Given the description of an element on the screen output the (x, y) to click on. 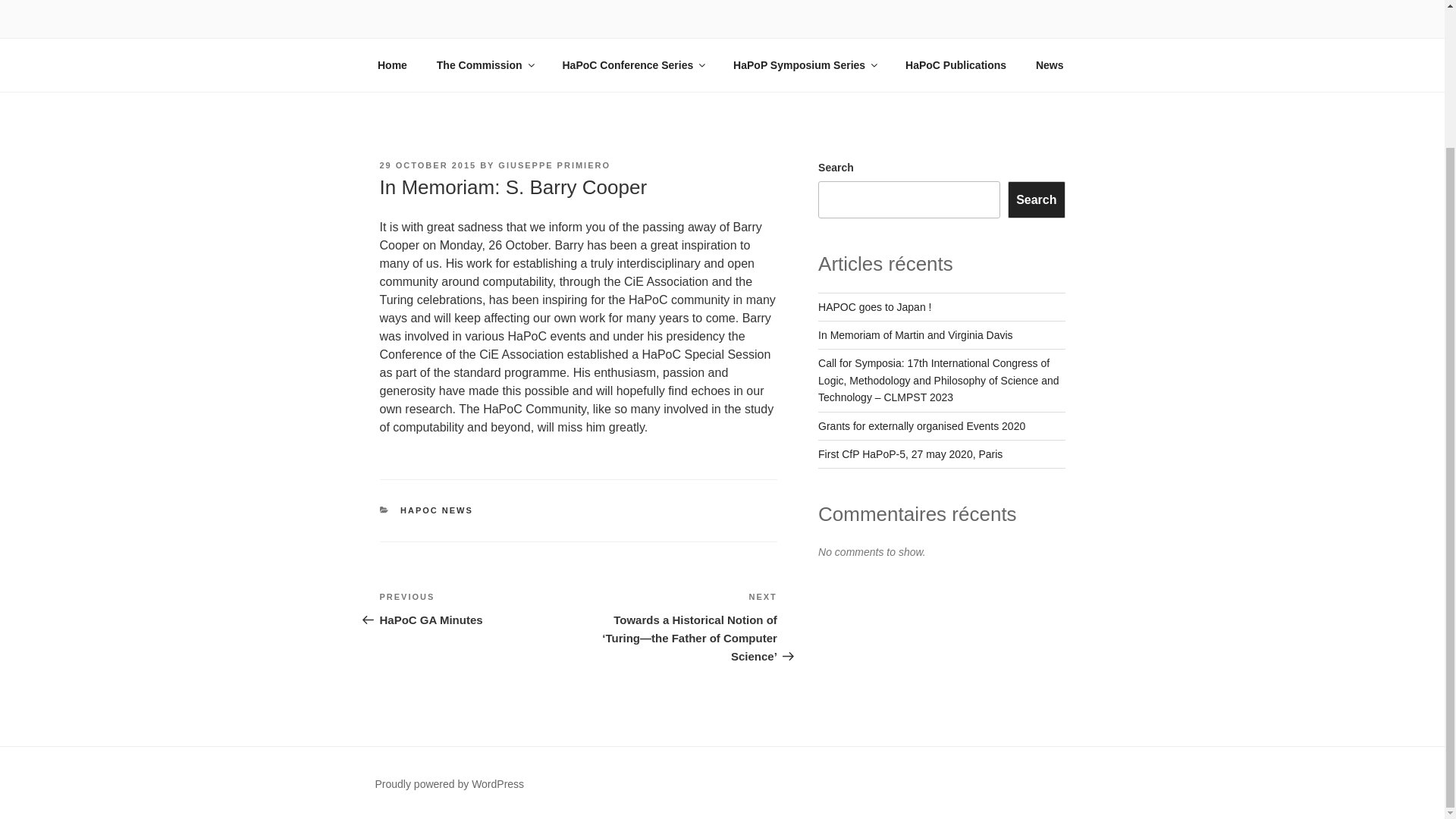
HaPoP Symposium Series (804, 64)
News (1049, 64)
In Memoriam of Martin and Virginia Davis (915, 335)
The Commission (484, 64)
HaPoC Conference Series (632, 64)
Home (392, 64)
Search (1035, 198)
HAPOC goes to Japan ! (874, 306)
HaPoC Publications (956, 64)
GIUSEPPE PRIMIERO (553, 164)
HAPOC NEWS (436, 510)
29 OCTOBER 2015 (427, 164)
